Given the description of an element on the screen output the (x, y) to click on. 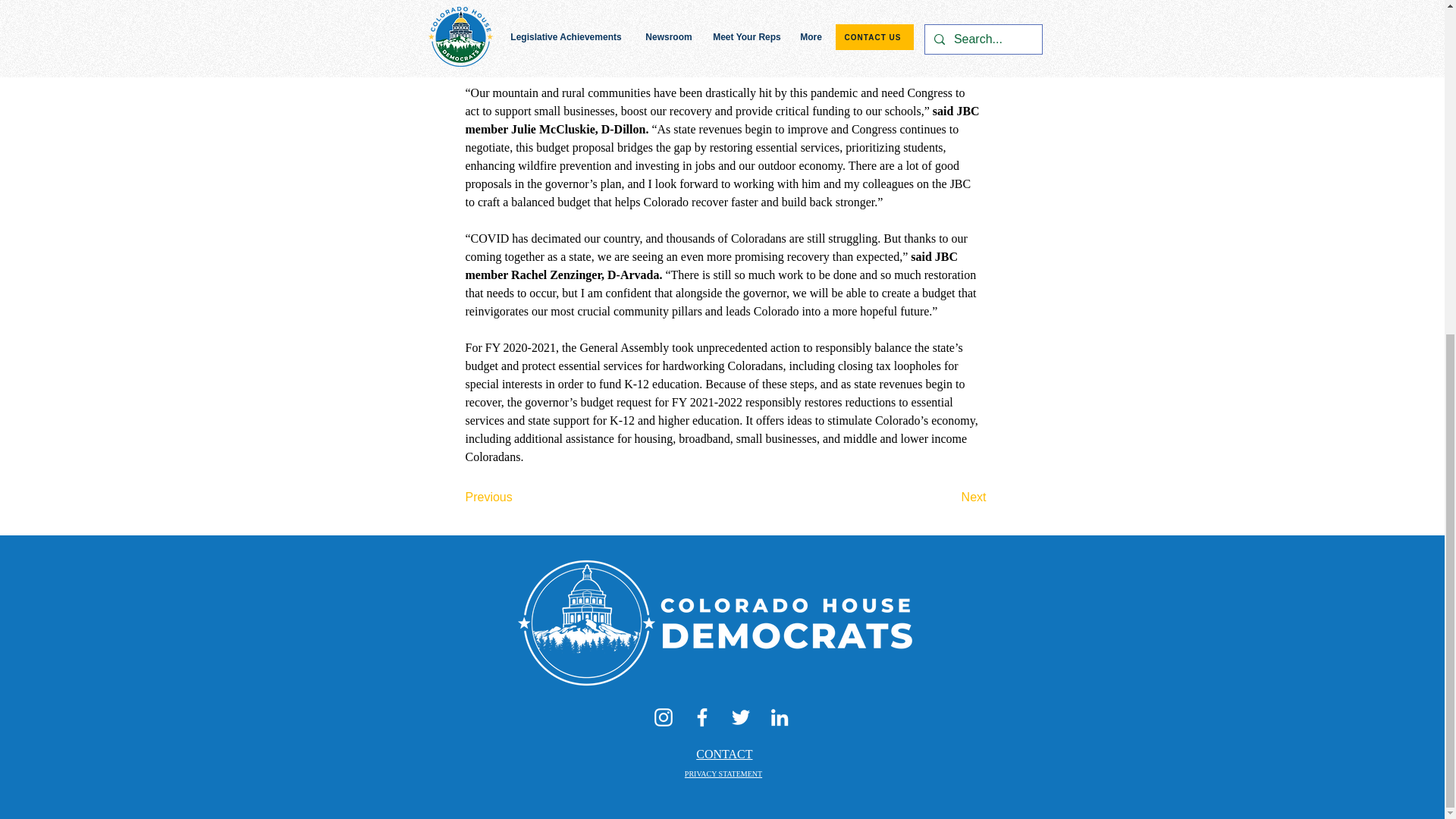
Next (947, 497)
CONTACT (723, 753)
PRIVACY STATEMENT (722, 773)
Previous (515, 497)
